Given the description of an element on the screen output the (x, y) to click on. 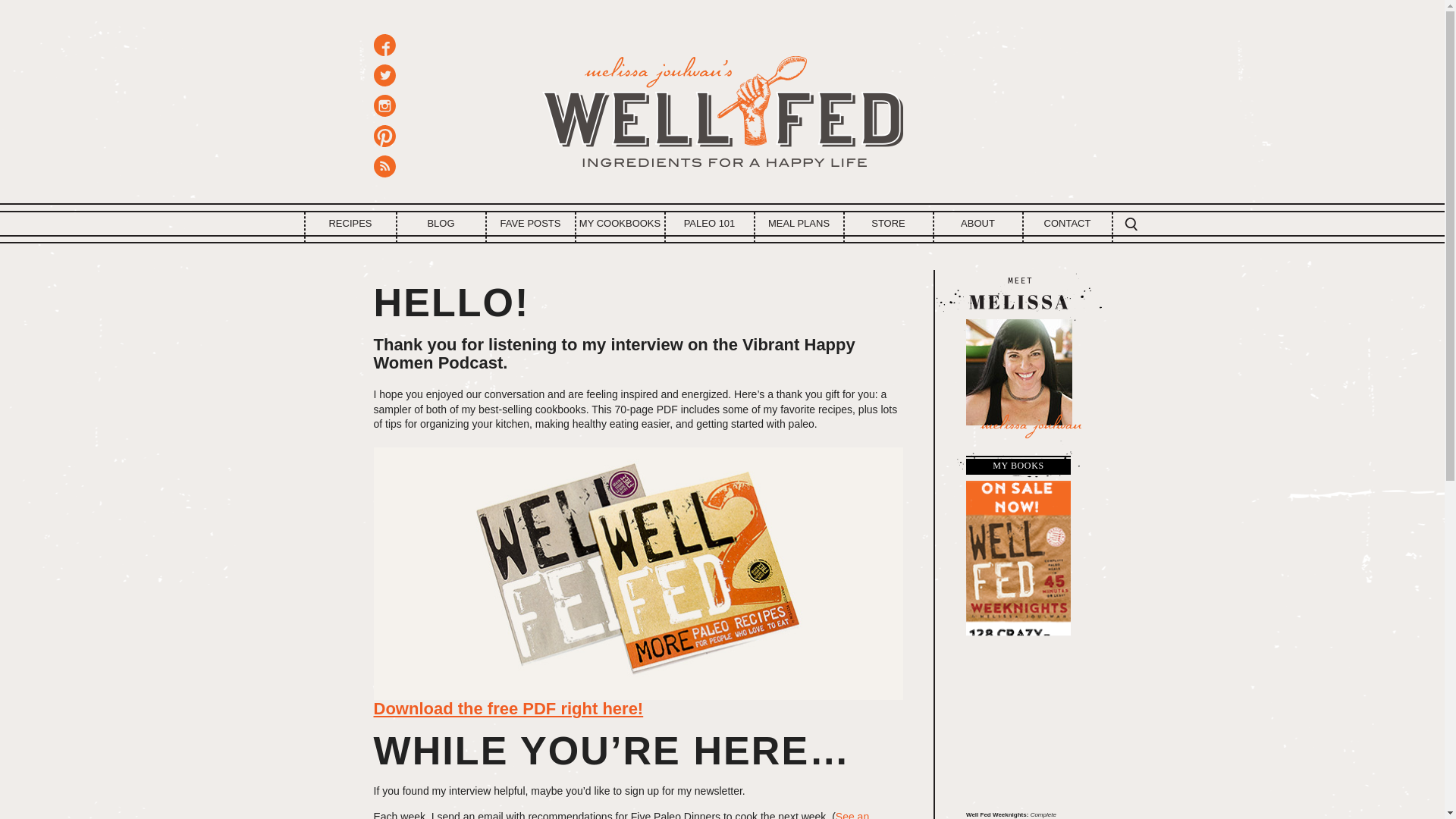
FAVE POSTS (530, 223)
See an example right here (620, 814)
PALEO 101 (709, 223)
BLOG (440, 223)
MEAL PLANS (799, 223)
MY COOKBOOKS (619, 223)
CONTACT (1067, 223)
Download the free PDF right here! (507, 708)
STORE (888, 223)
Melissa Joulwan's Well Fed - Ingredients for a Happy Life (721, 106)
